Given the description of an element on the screen output the (x, y) to click on. 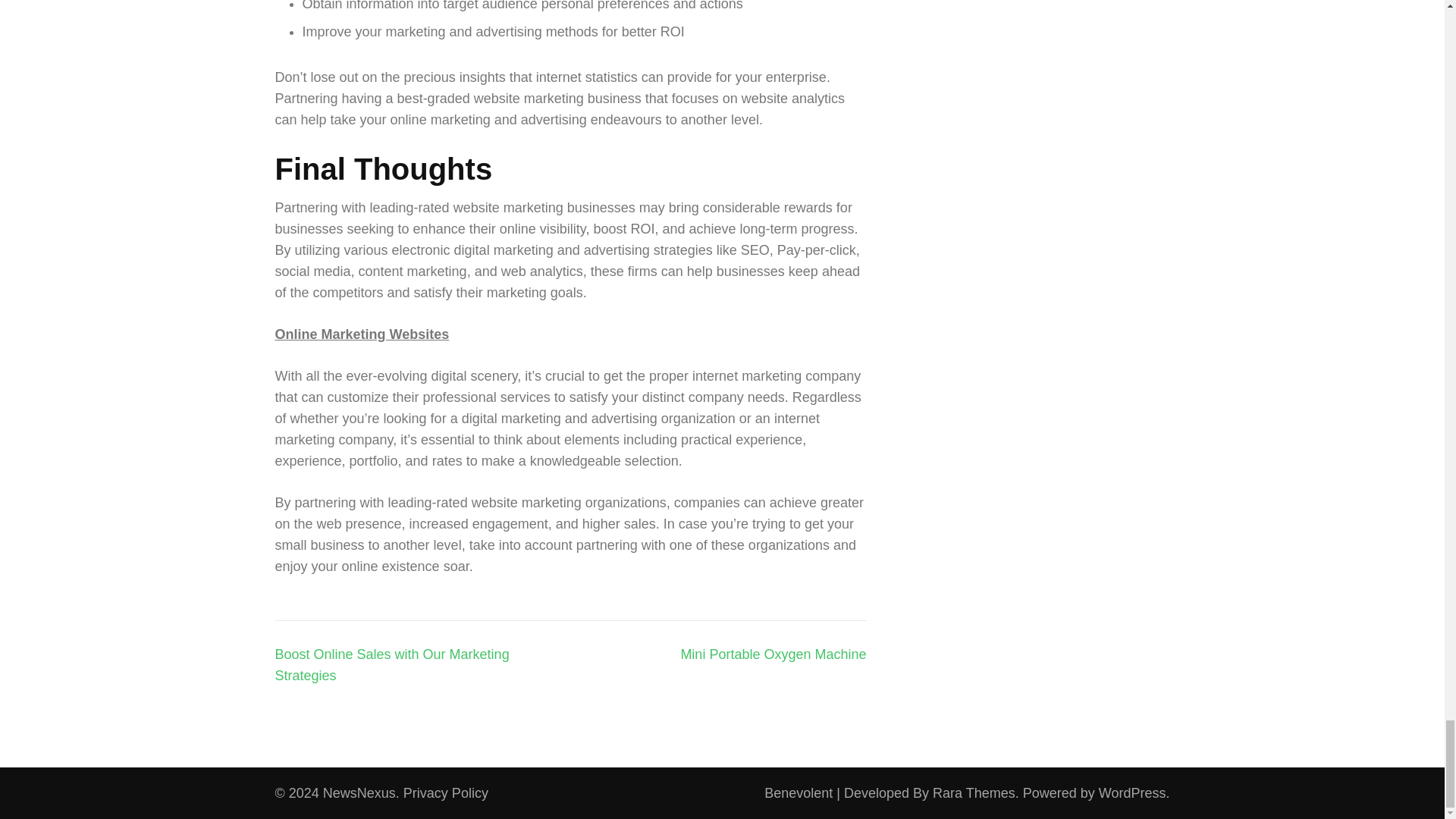
Mini Portable Oxygen Machine (772, 653)
Boost Online Sales with Our Marketing Strategies (391, 664)
Online Marketing Websites (361, 333)
